Given the description of an element on the screen output the (x, y) to click on. 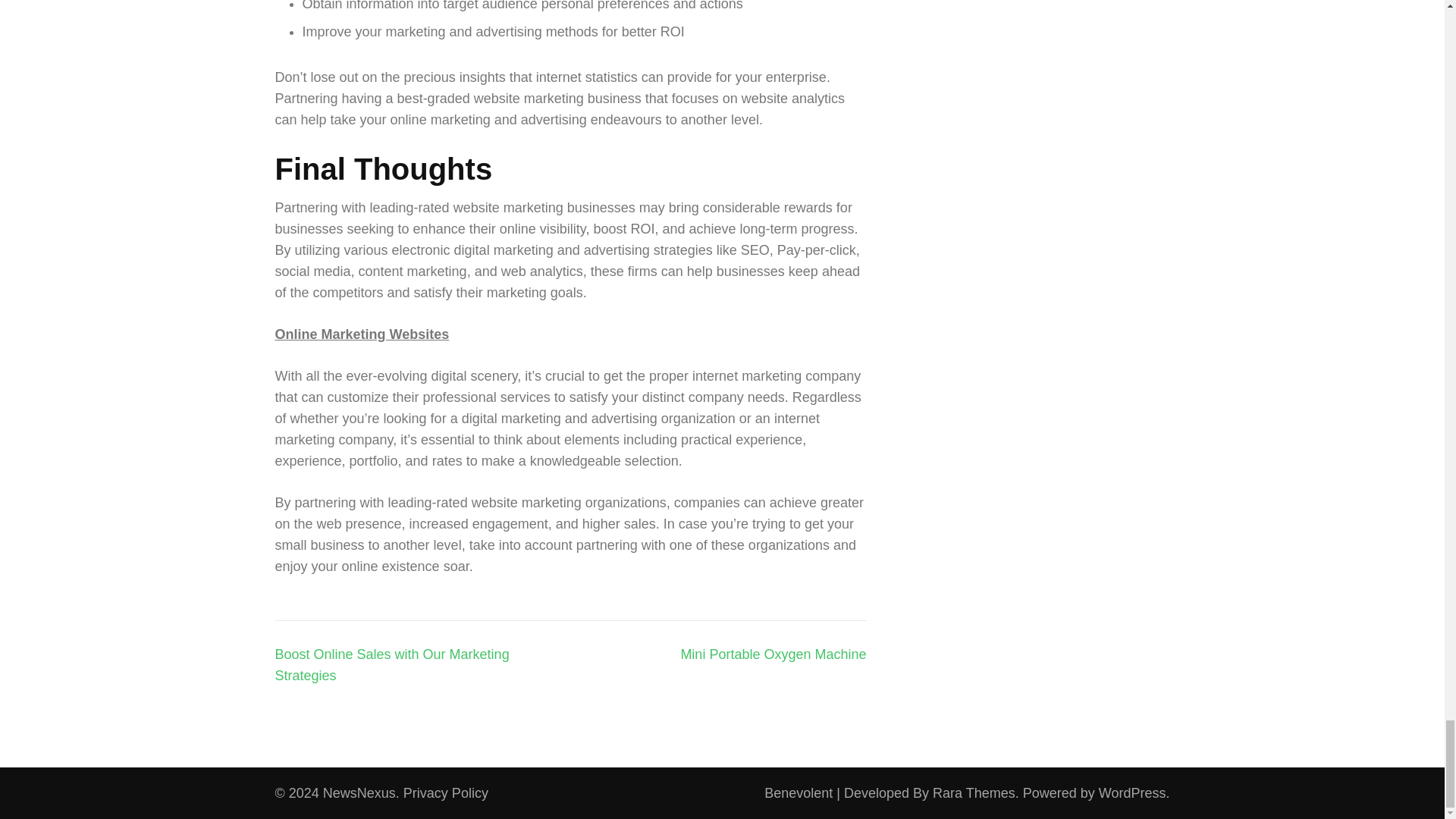
Mini Portable Oxygen Machine (772, 653)
Boost Online Sales with Our Marketing Strategies (391, 664)
Online Marketing Websites (361, 333)
